Given the description of an element on the screen output the (x, y) to click on. 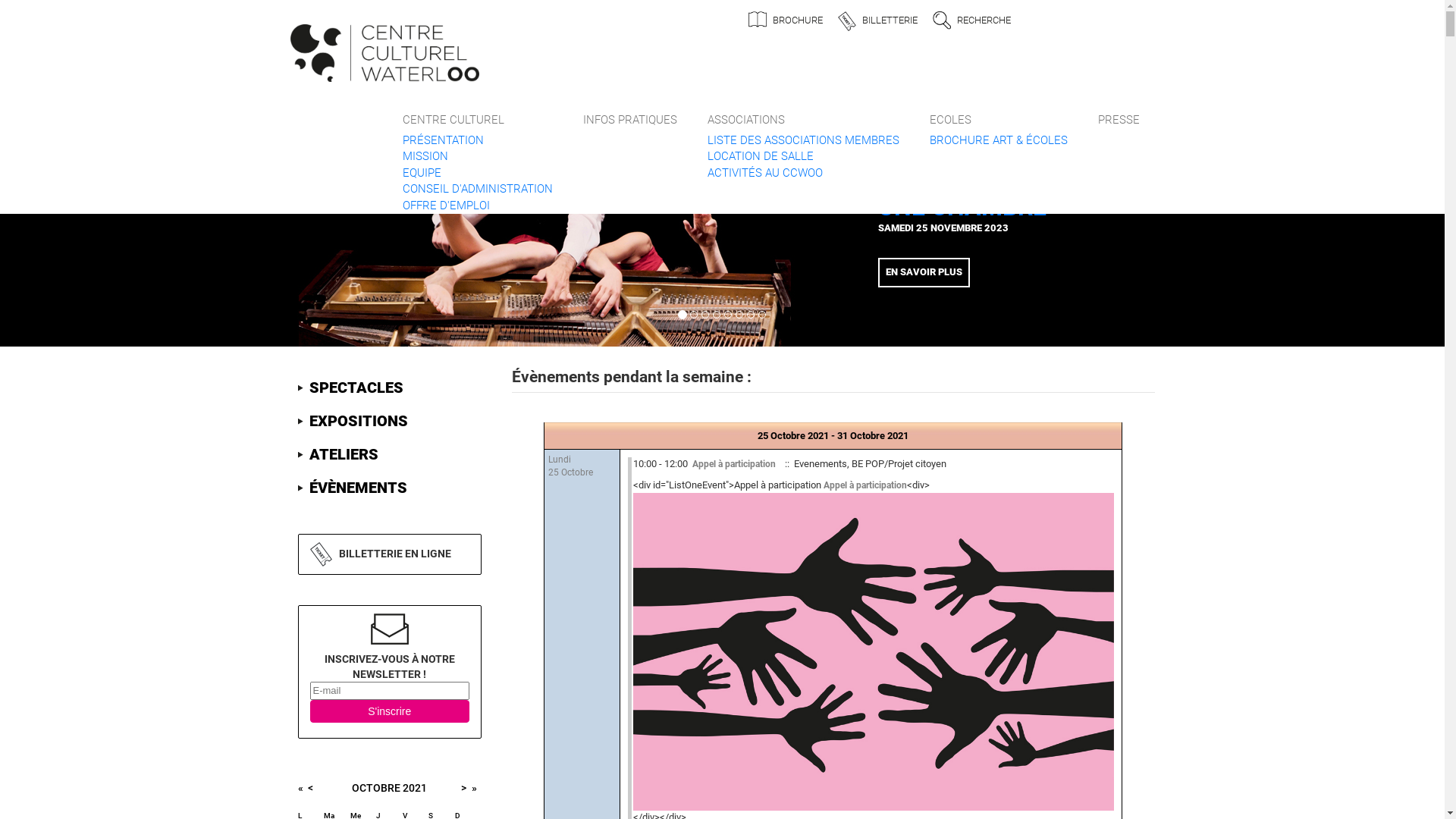
ASSOCIATIONS Element type: text (802, 106)
UNE CHAMBRE Element type: text (962, 206)
LOCATION DE SALLE Element type: text (759, 156)
S'inscrire Element type: text (389, 710)
BILLETTERIE EN LIGNE Element type: text (394, 552)
2021 Element type: text (414, 787)
EQUIPE Element type: text (420, 172)
RECHERCHE Element type: text (982, 19)
ATELIERS Element type: text (337, 454)
PRESSE Element type: text (1118, 106)
OFFRE D'EMPLOI Element type: text (445, 205)
Lundi
25 Octobre Element type: text (570, 465)
MISSION Element type: text (424, 156)
SAMEDI 25 NOVEMBRE 2023 Element type: text (943, 227)
OCTOBRE Element type: text (375, 787)
BILLETTERIE Element type: text (889, 19)
ECOLES Element type: text (998, 106)
LISTE DES ASSOCIATIONS MEMBRES Element type: text (802, 140)
INFOS PRATIQUES Element type: text (629, 106)
BROCHURE Element type: text (797, 19)
EXPOSITIONS Element type: text (352, 421)
EN SAVOIR PLUS Element type: text (923, 271)
CONSEIL D'ADMINISTRATION Element type: text (476, 188)
CENTRE CULTUREL Element type: text (476, 106)
SPECTACLES Element type: text (349, 387)
